Given the description of an element on the screen output the (x, y) to click on. 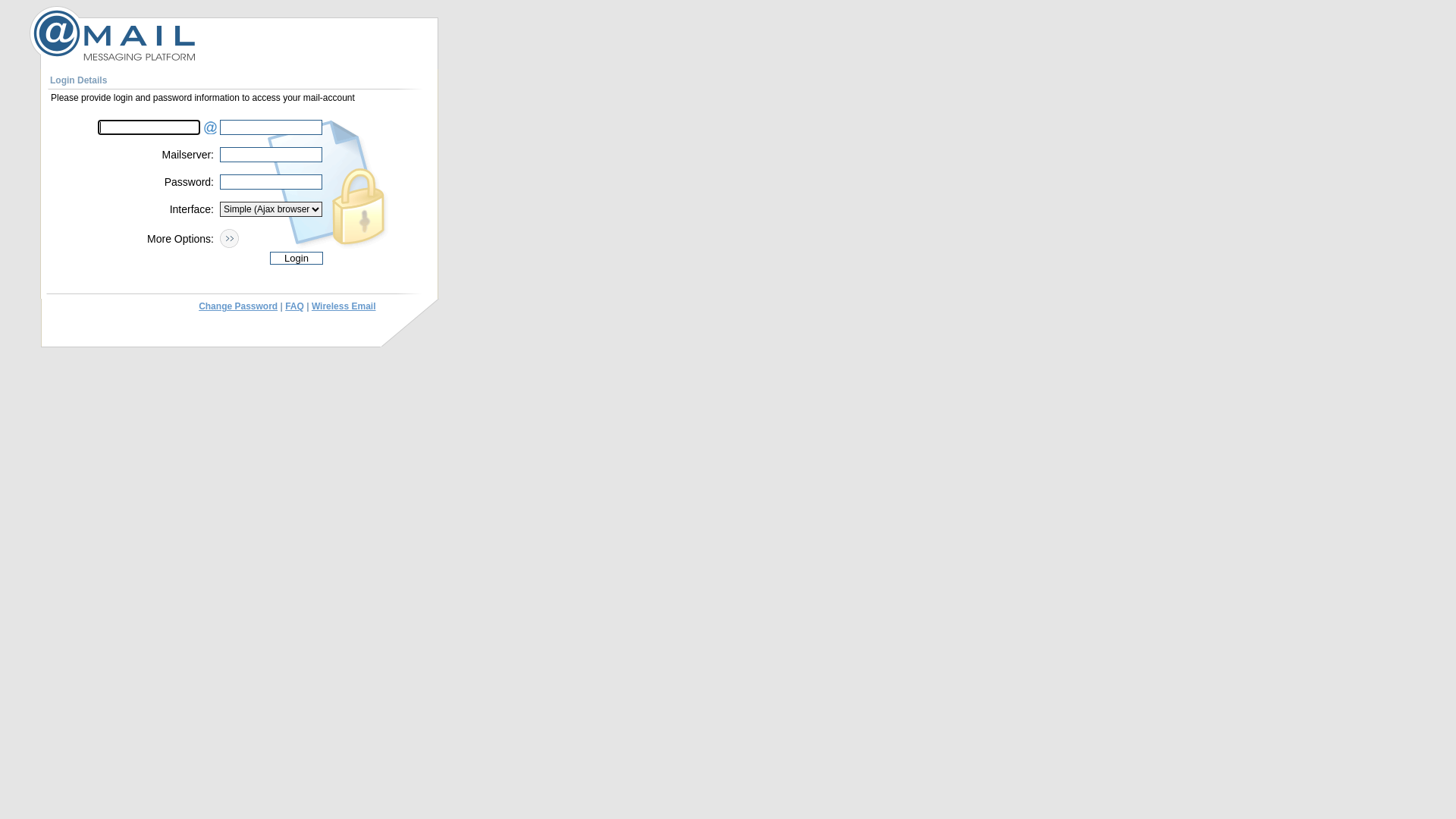
Login Element type: text (296, 257)
FAQ Element type: text (294, 306)
Change Password Element type: text (237, 306)
Wireless Email Element type: text (343, 306)
